Given the description of an element on the screen output the (x, y) to click on. 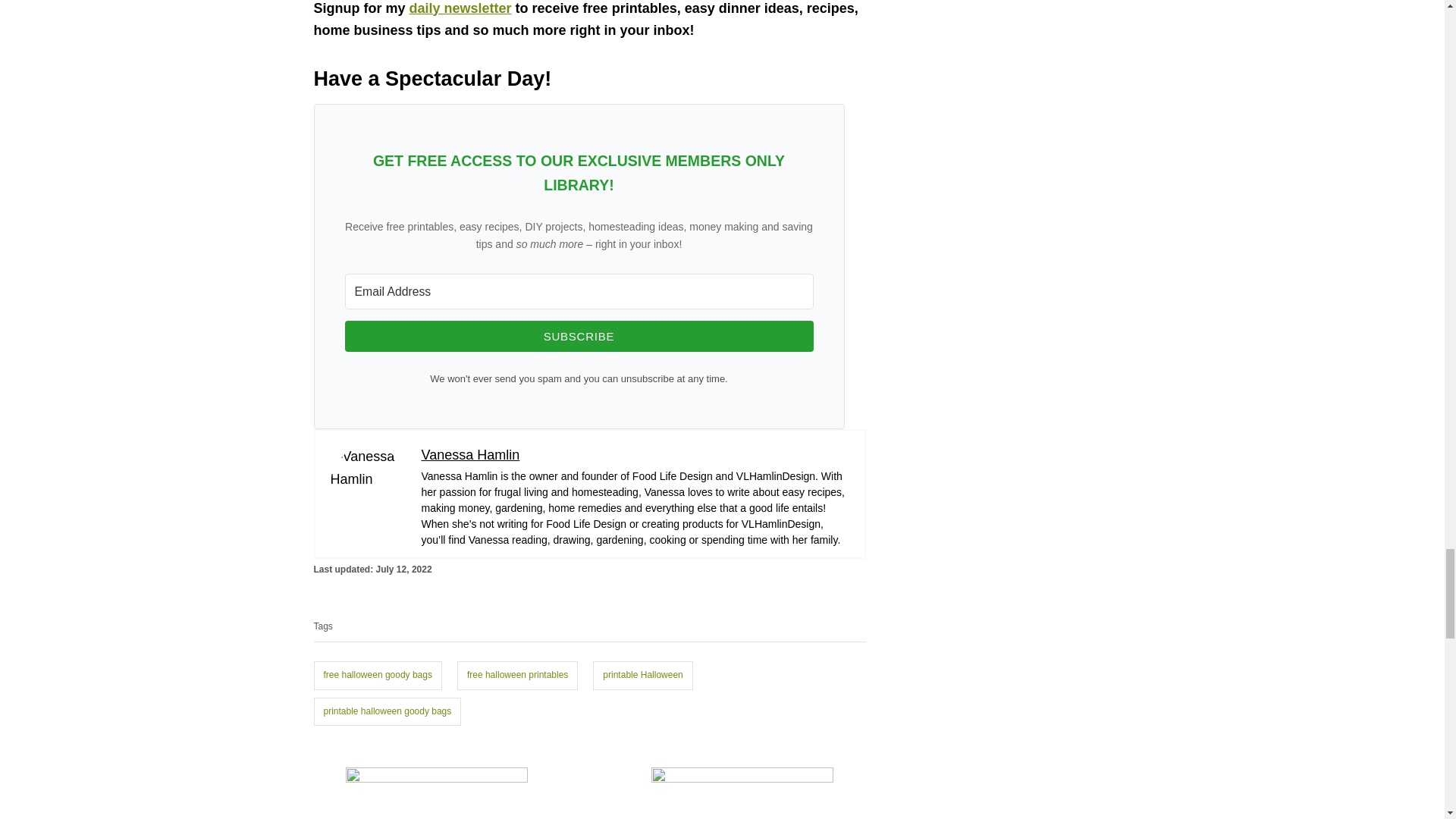
Vanessa Hamlin (470, 454)
SUBSCRIBE (577, 336)
printable halloween goody bags (387, 711)
free halloween printables (517, 675)
printable Halloween (642, 675)
daily newsletter (460, 7)
free halloween goody bags (378, 675)
